Given the description of an element on the screen output the (x, y) to click on. 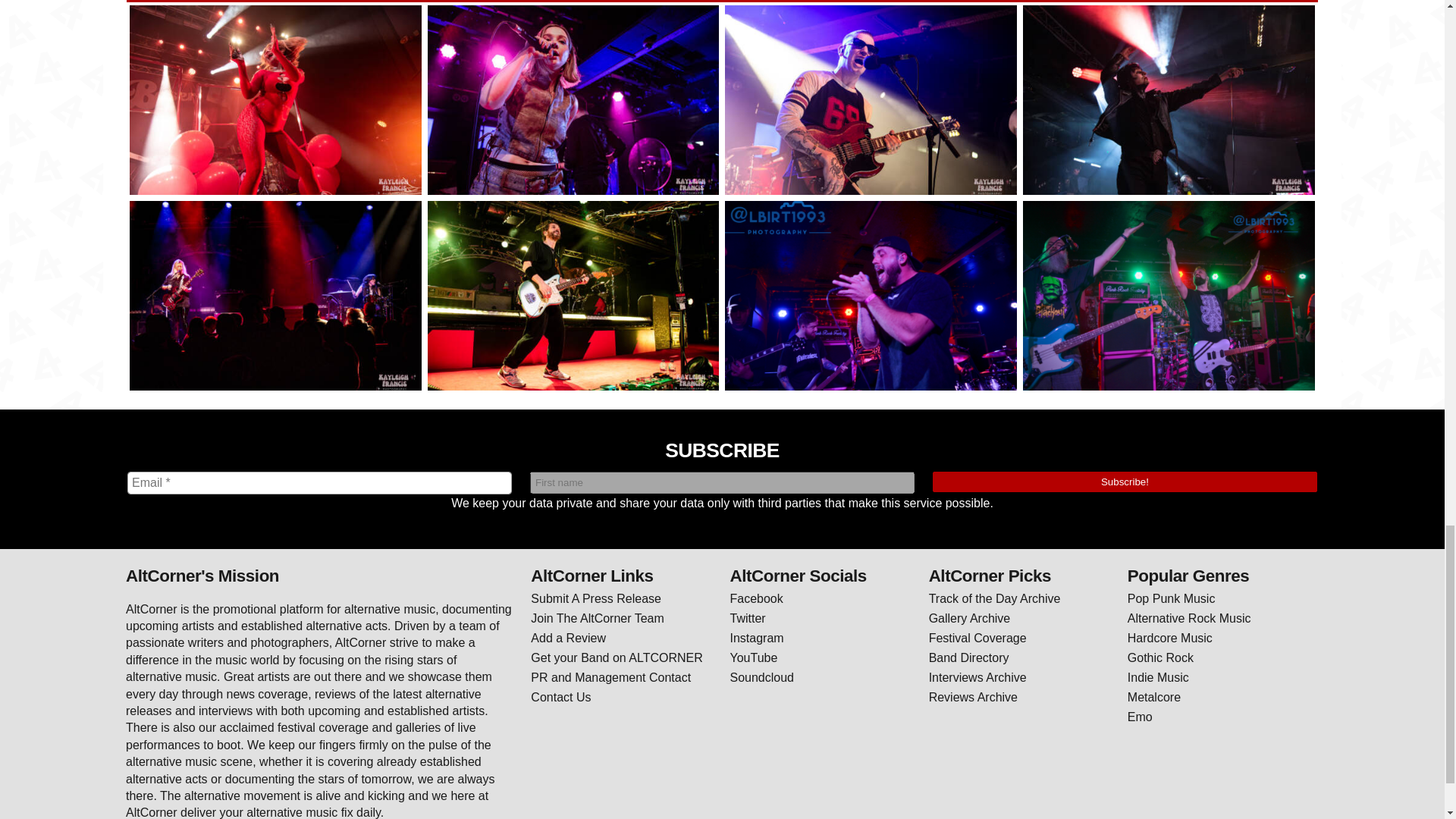
Subscribe! (1125, 481)
Email (320, 482)
First name (721, 482)
